Given the description of an element on the screen output the (x, y) to click on. 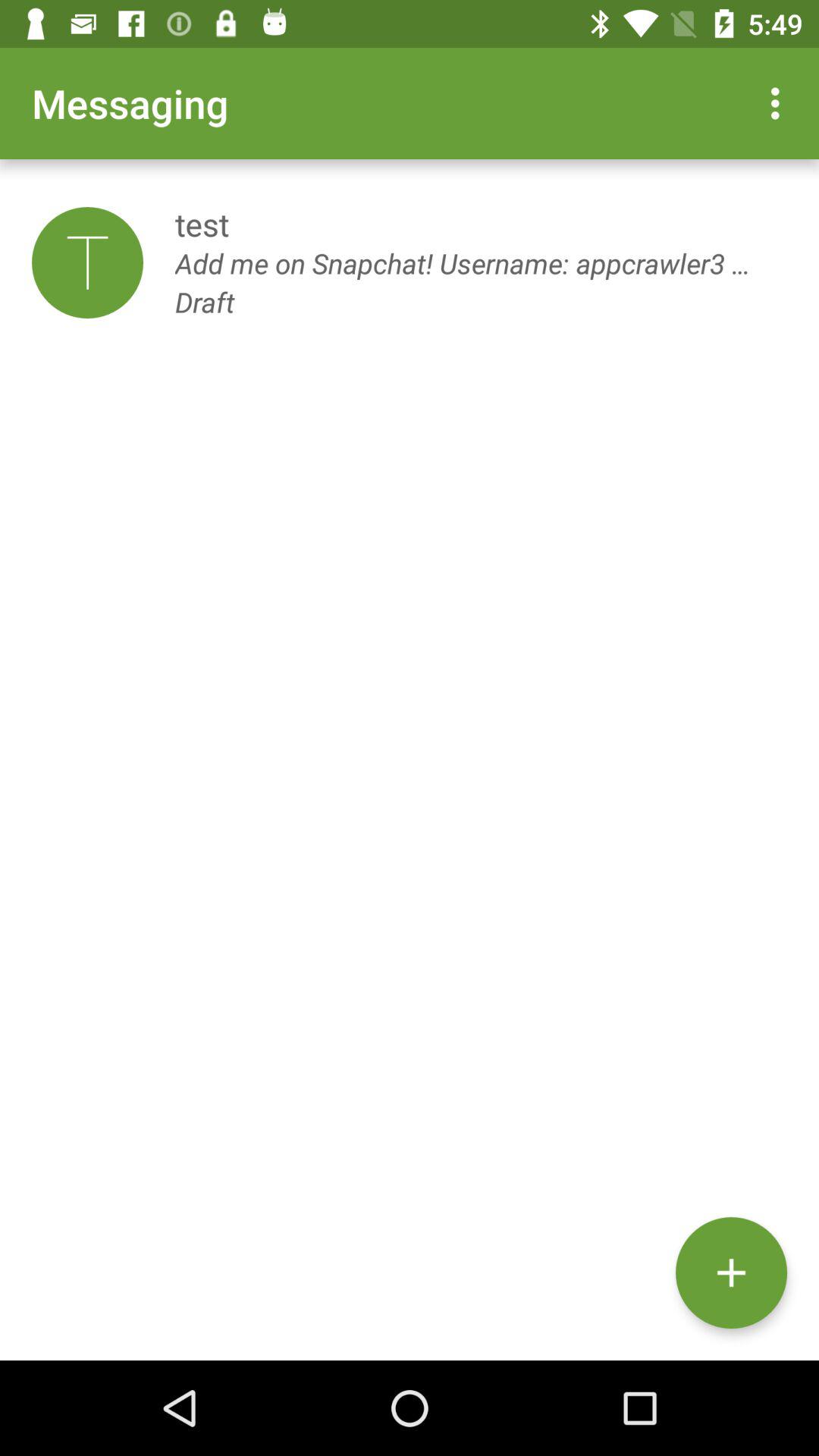
press the item next to test icon (87, 262)
